Given the description of an element on the screen output the (x, y) to click on. 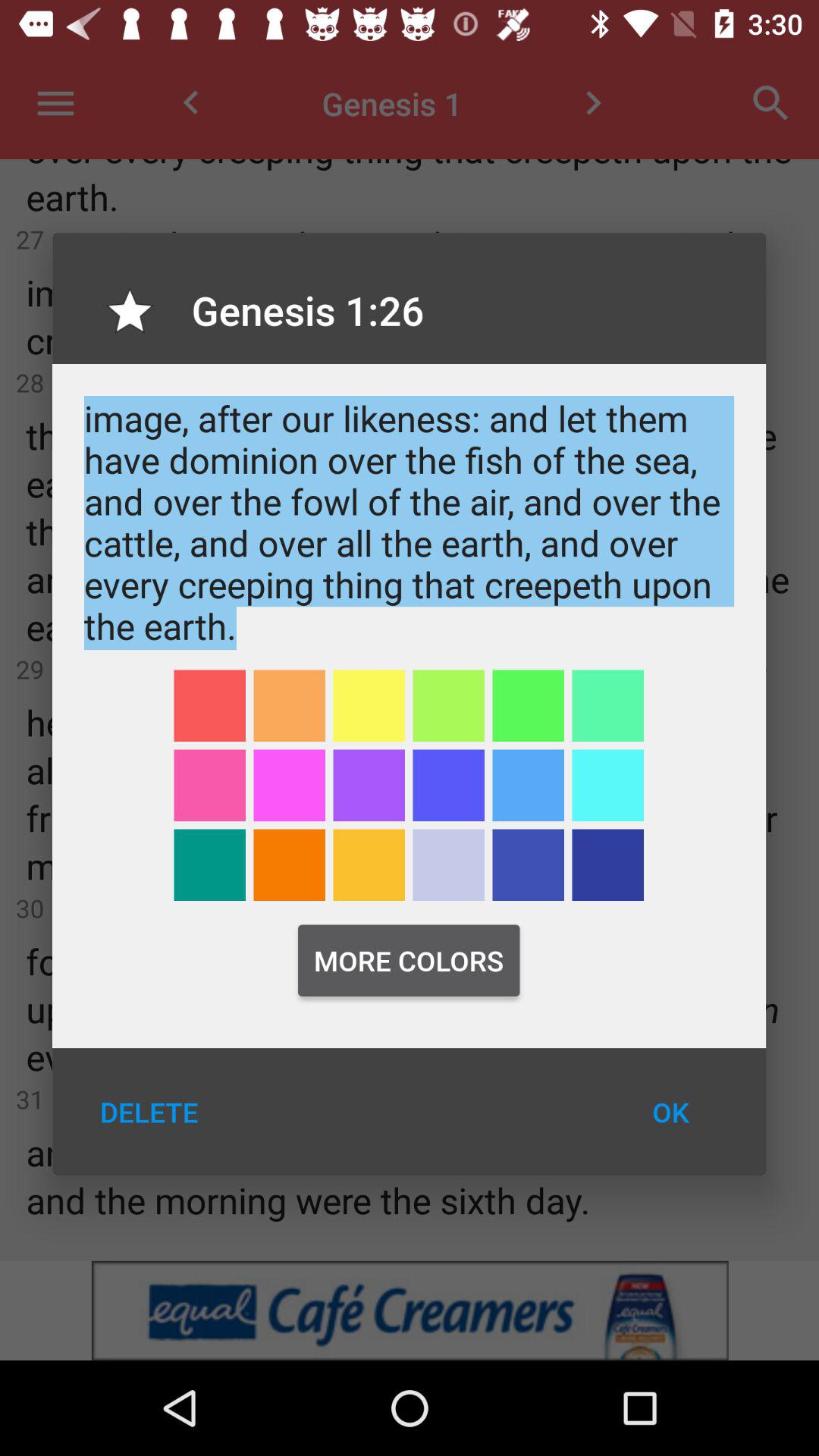
select light blue color (528, 785)
